Given the description of an element on the screen output the (x, y) to click on. 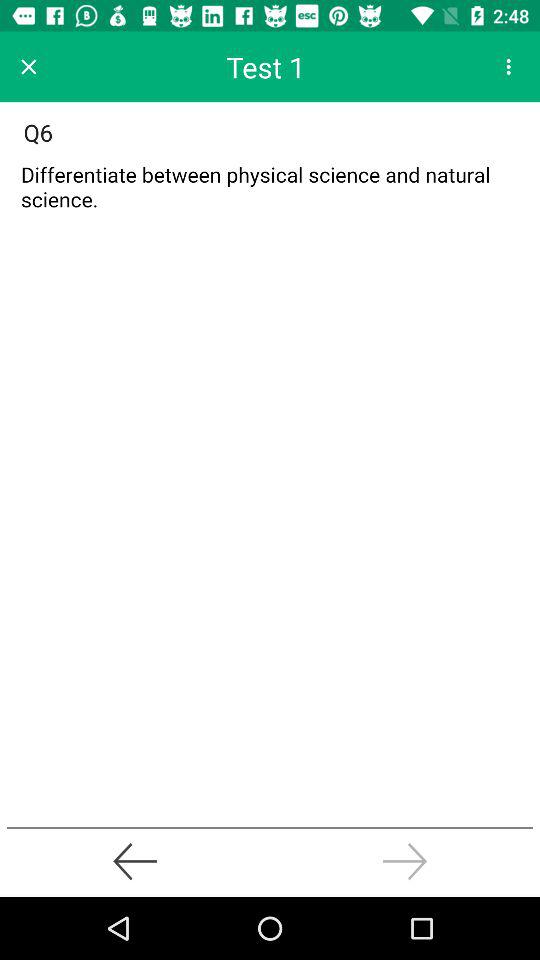
for setting (508, 66)
